Given the description of an element on the screen output the (x, y) to click on. 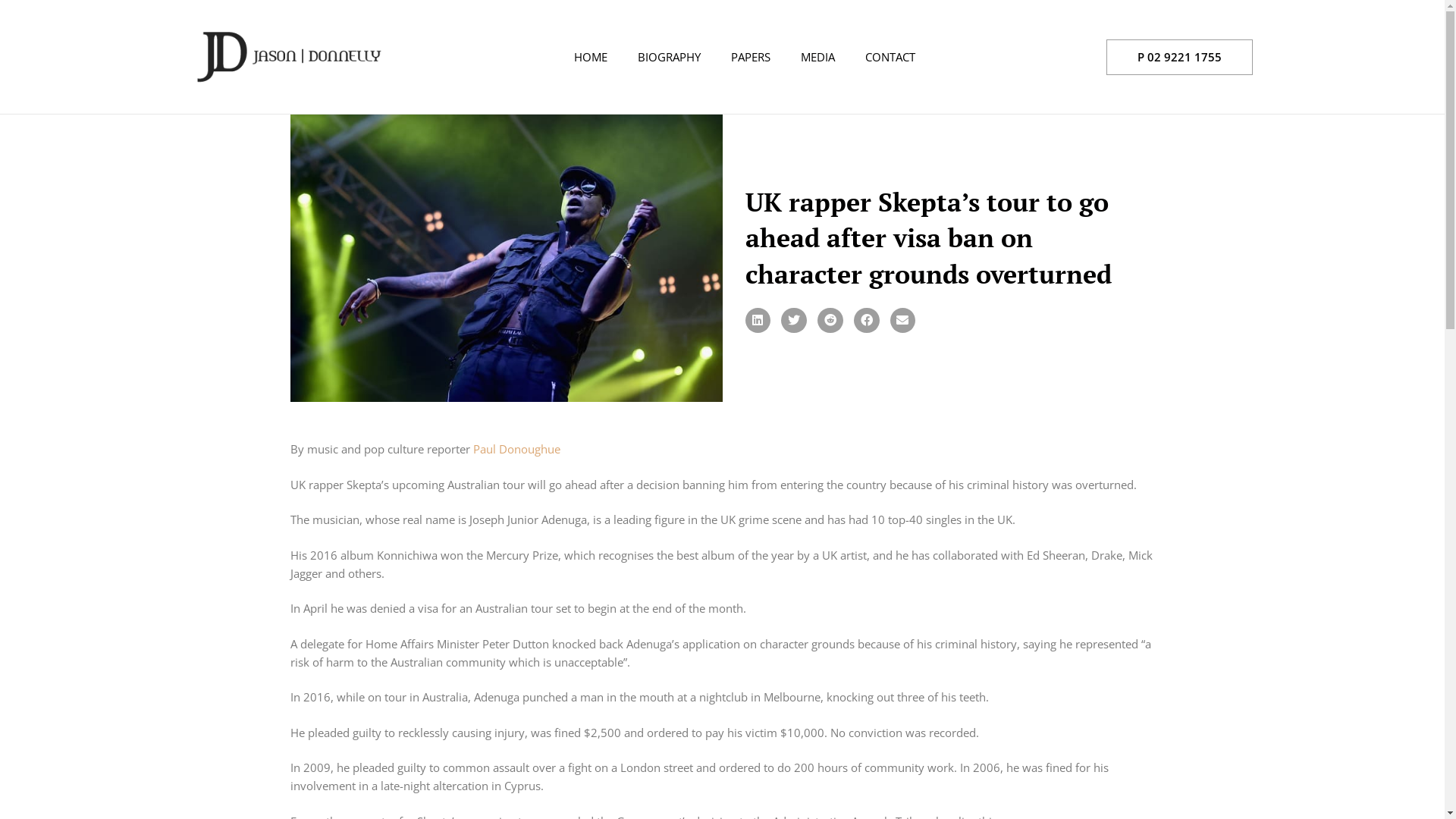
BIOGRAPHY Element type: text (668, 56)
MEDIA Element type: text (817, 56)
PAPERS Element type: text (750, 56)
CONTACT Element type: text (890, 56)
P 02 9221 1755 Element type: text (1179, 57)
Paul Donoughue Element type: text (516, 448)
HOME Element type: text (590, 56)
